Given the description of an element on the screen output the (x, y) to click on. 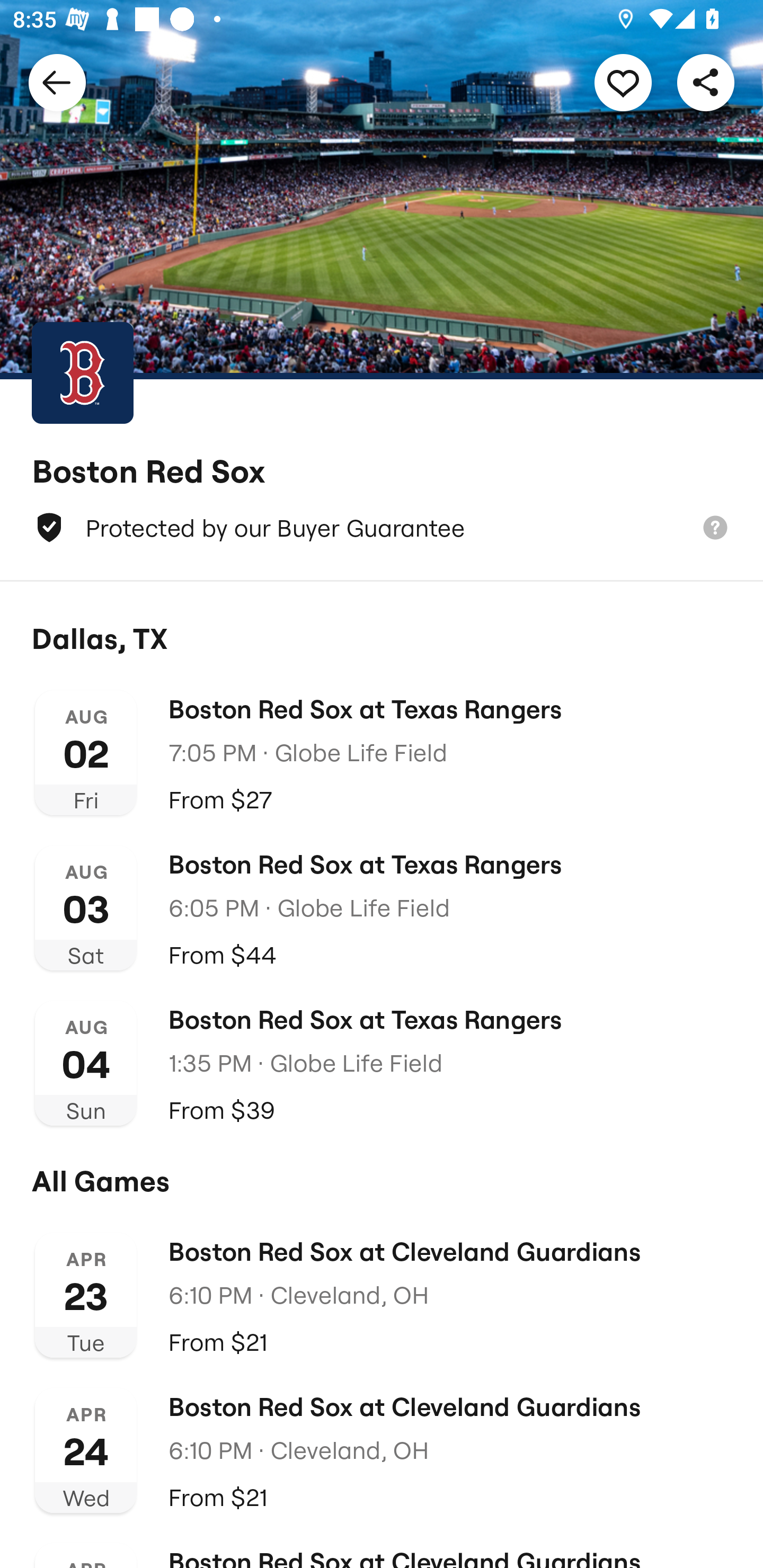
Back (57, 81)
Track this performer (623, 81)
Share this performer (705, 81)
Protected by our Buyer Guarantee Learn more (381, 527)
